Given the description of an element on the screen output the (x, y) to click on. 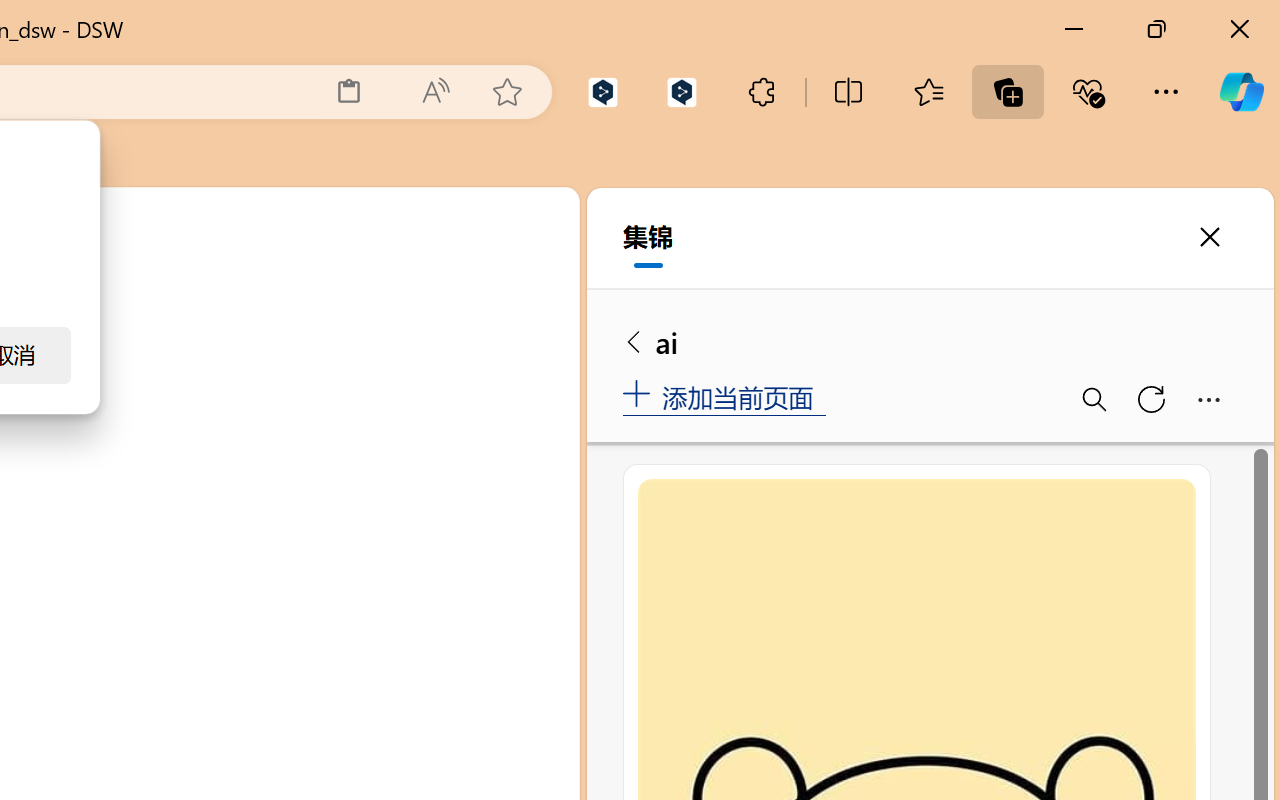
Czech (991, 455)
